Given the description of an element on the screen output the (x, y) to click on. 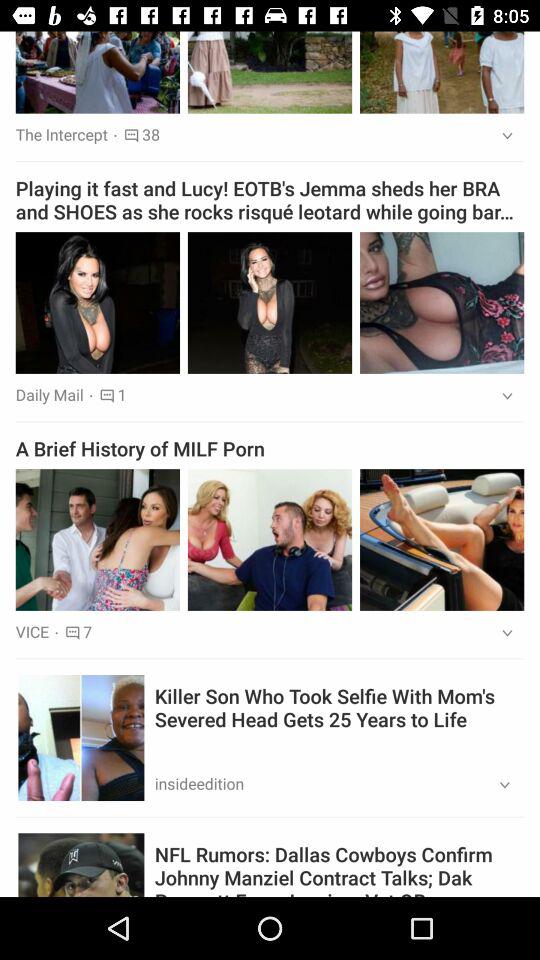
launch the icon at the bottom right corner (498, 785)
